Given the description of an element on the screen output the (x, y) to click on. 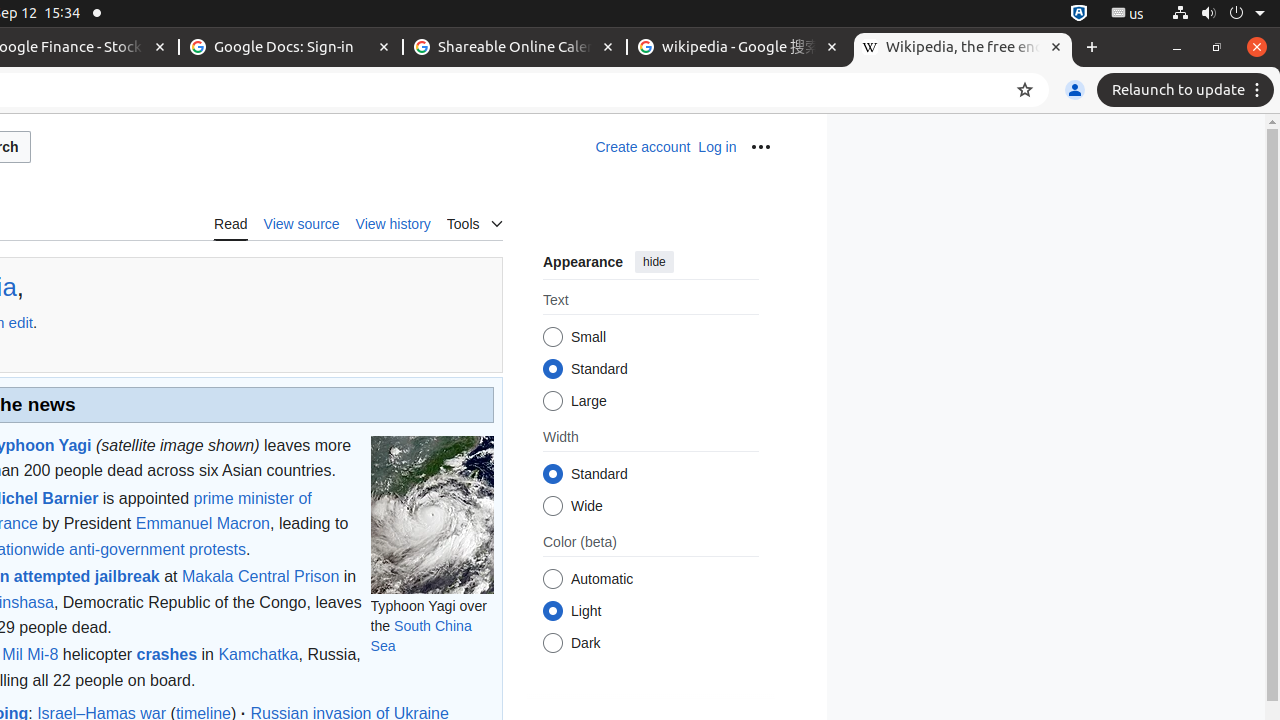
Automatic Element type: radio-button (552, 579)
Emmanuel Macron Element type: link (202, 524)
Large Element type: radio-button (552, 401)
Bookmark this tab Element type: push-button (1025, 90)
Tools Element type: push-button (474, 221)
